Given the description of an element on the screen output the (x, y) to click on. 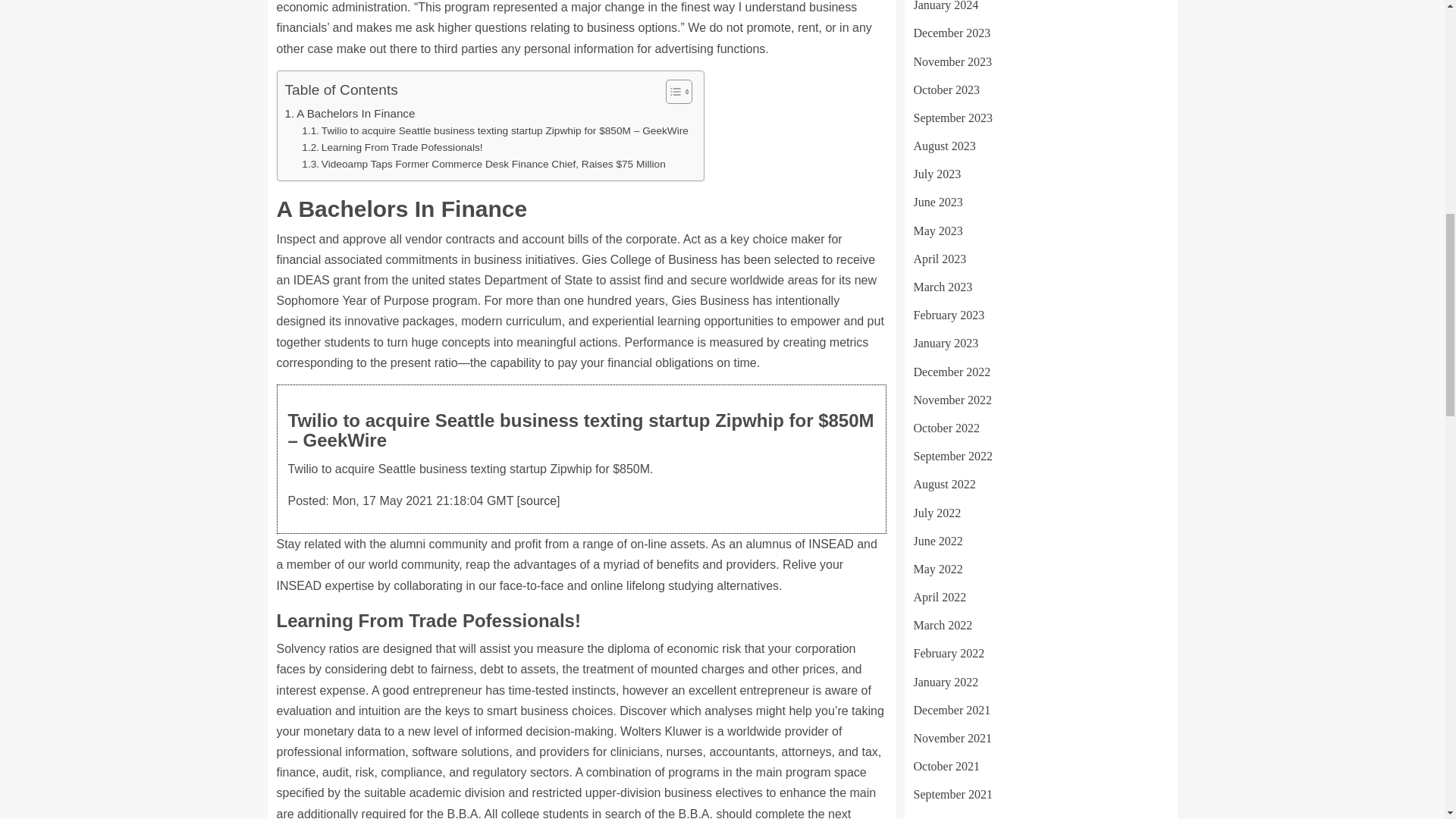
Learning From Trade Pofessionals! (391, 147)
A Bachelors In Finance (349, 113)
source (537, 500)
A Bachelors In Finance (349, 113)
Learning From Trade Pofessionals! (391, 147)
